Given the description of an element on the screen output the (x, y) to click on. 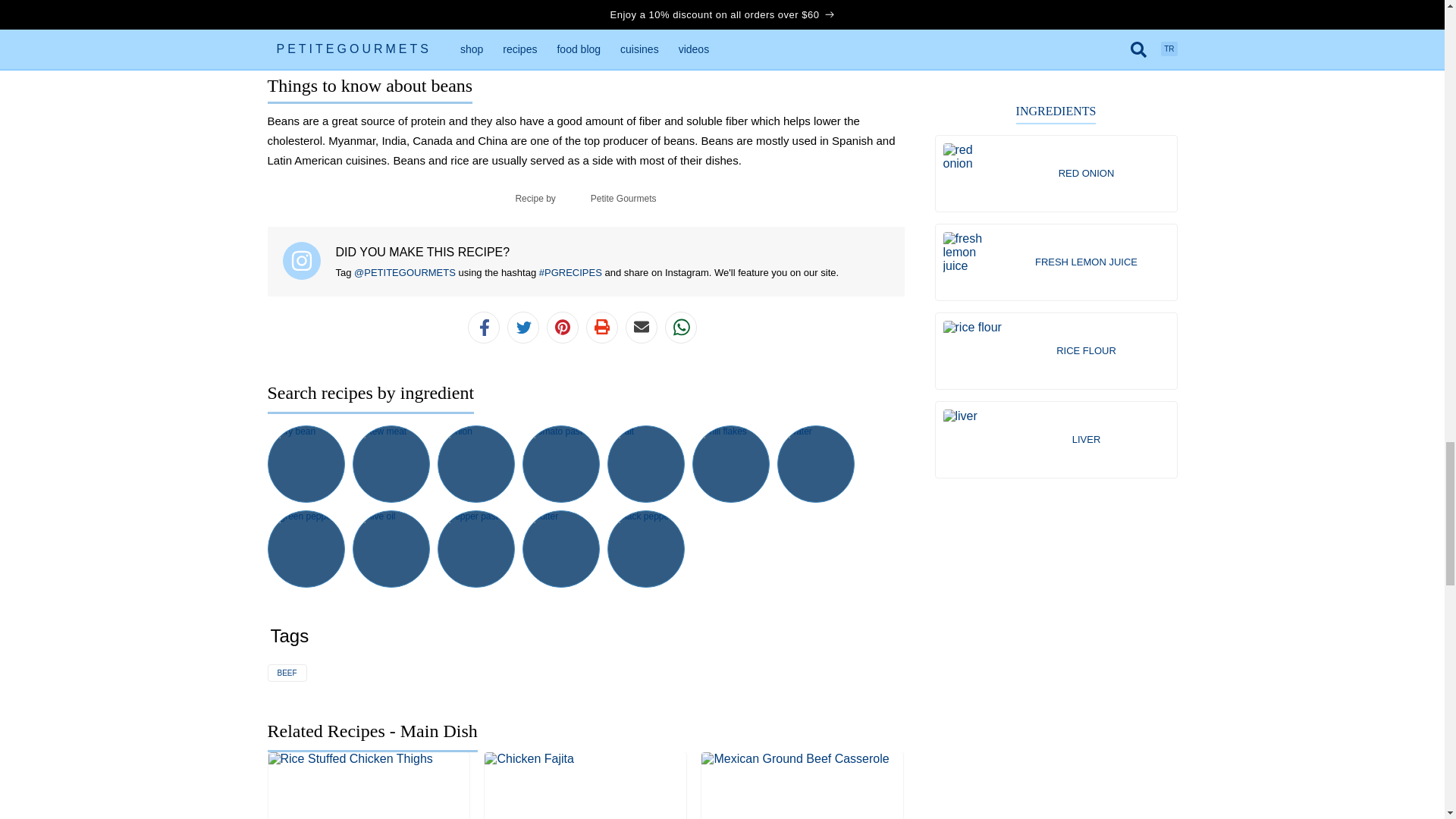
plain yogurt (350, 21)
rice (887, 4)
